Given the description of an element on the screen output the (x, y) to click on. 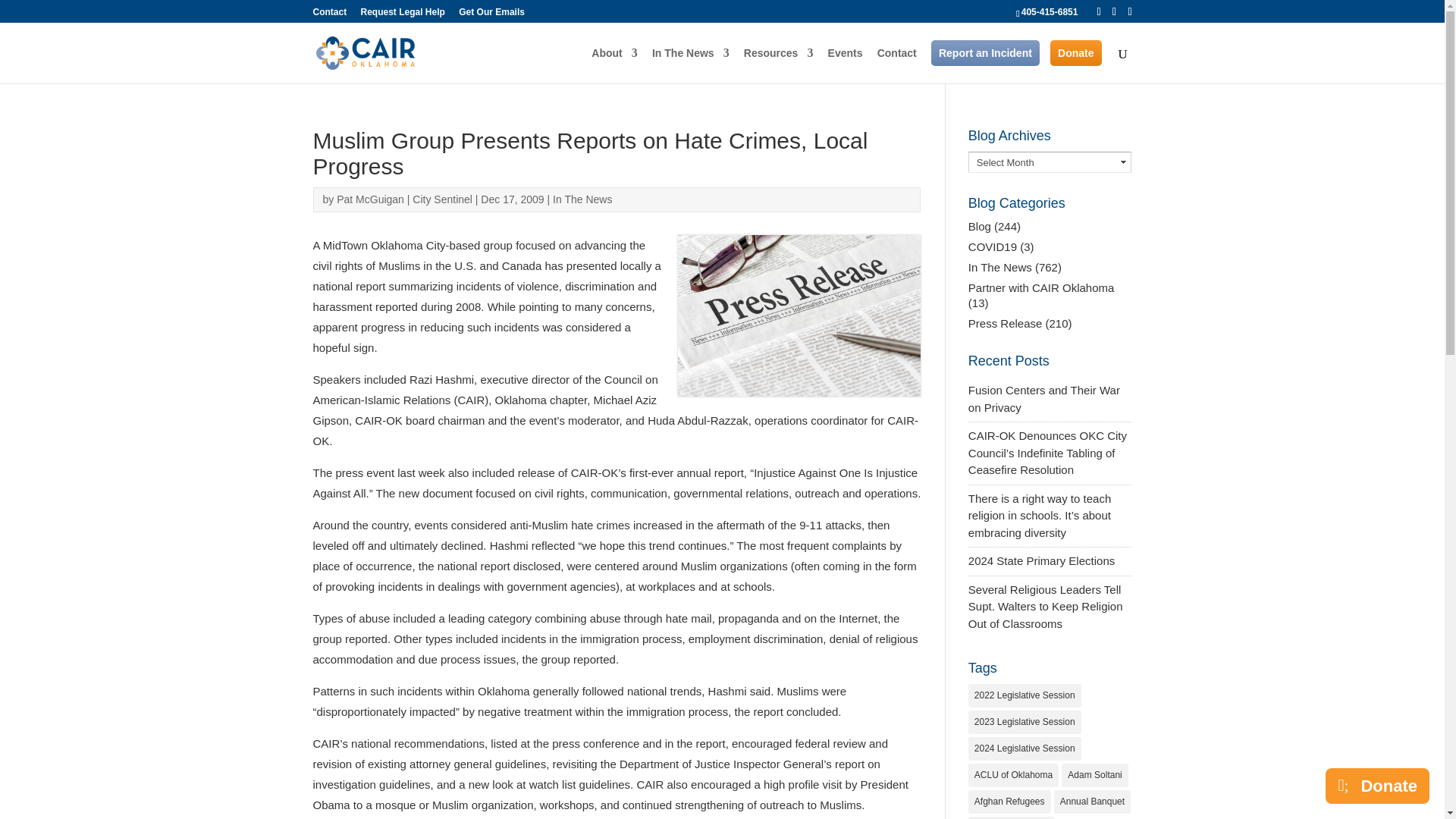
Contact (329, 15)
Report an Incident (985, 53)
Events (845, 65)
Resources (778, 65)
In The News (690, 65)
Donate (1074, 53)
Request Legal Help (403, 15)
About (614, 65)
Contact (897, 65)
Get Our Emails (491, 15)
